Given the description of an element on the screen output the (x, y) to click on. 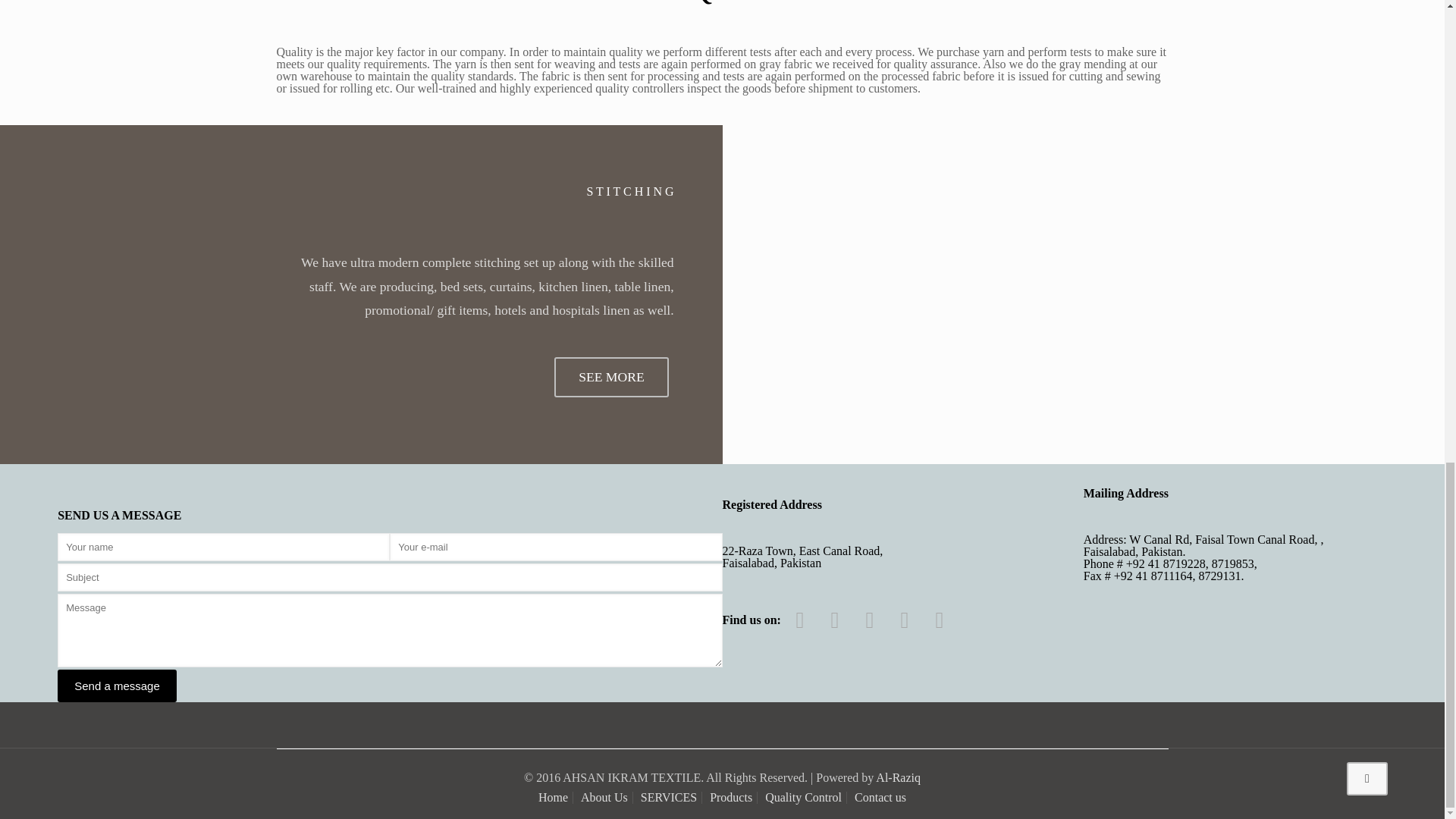
Send a message (117, 685)
Products (731, 797)
Send a message (117, 685)
SERVICES (668, 797)
About Us (603, 797)
Al-Raziq (898, 777)
SEE MORE (611, 377)
Quality Control (803, 797)
Home (552, 797)
